Given the description of an element on the screen output the (x, y) to click on. 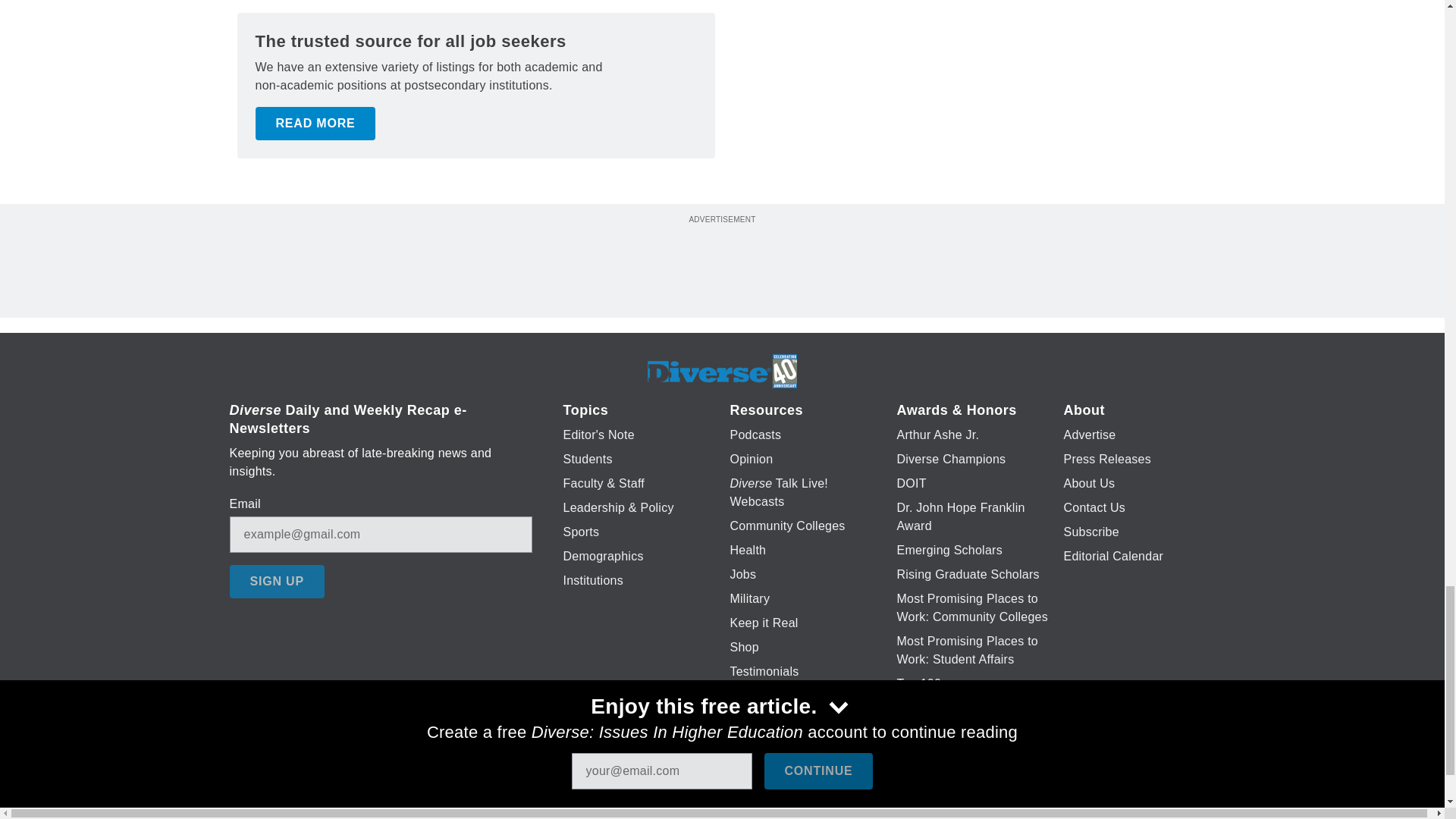
Twitter X icon (674, 805)
Facebook icon (635, 805)
Instagram icon (796, 805)
LinkedIn icon (718, 805)
YouTube icon (757, 805)
